Given the description of an element on the screen output the (x, y) to click on. 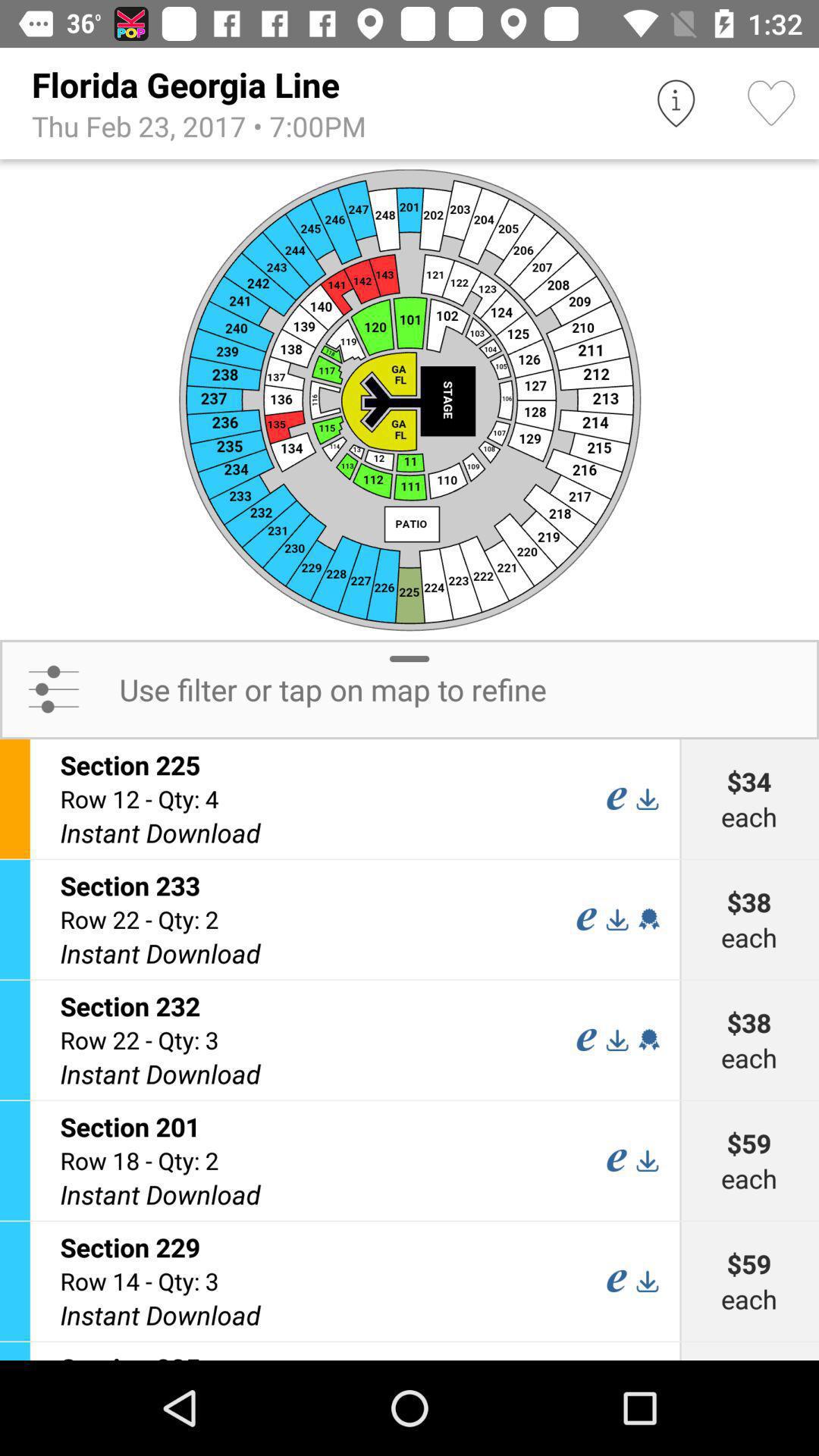
click on option e in section 229 field (616, 1280)
click on the medal icon in section 232 field (648, 1040)
select the e icon which is in the fourth row (616, 1161)
click on the download icon in section 201 field (647, 1161)
